Given the description of an element on the screen output the (x, y) to click on. 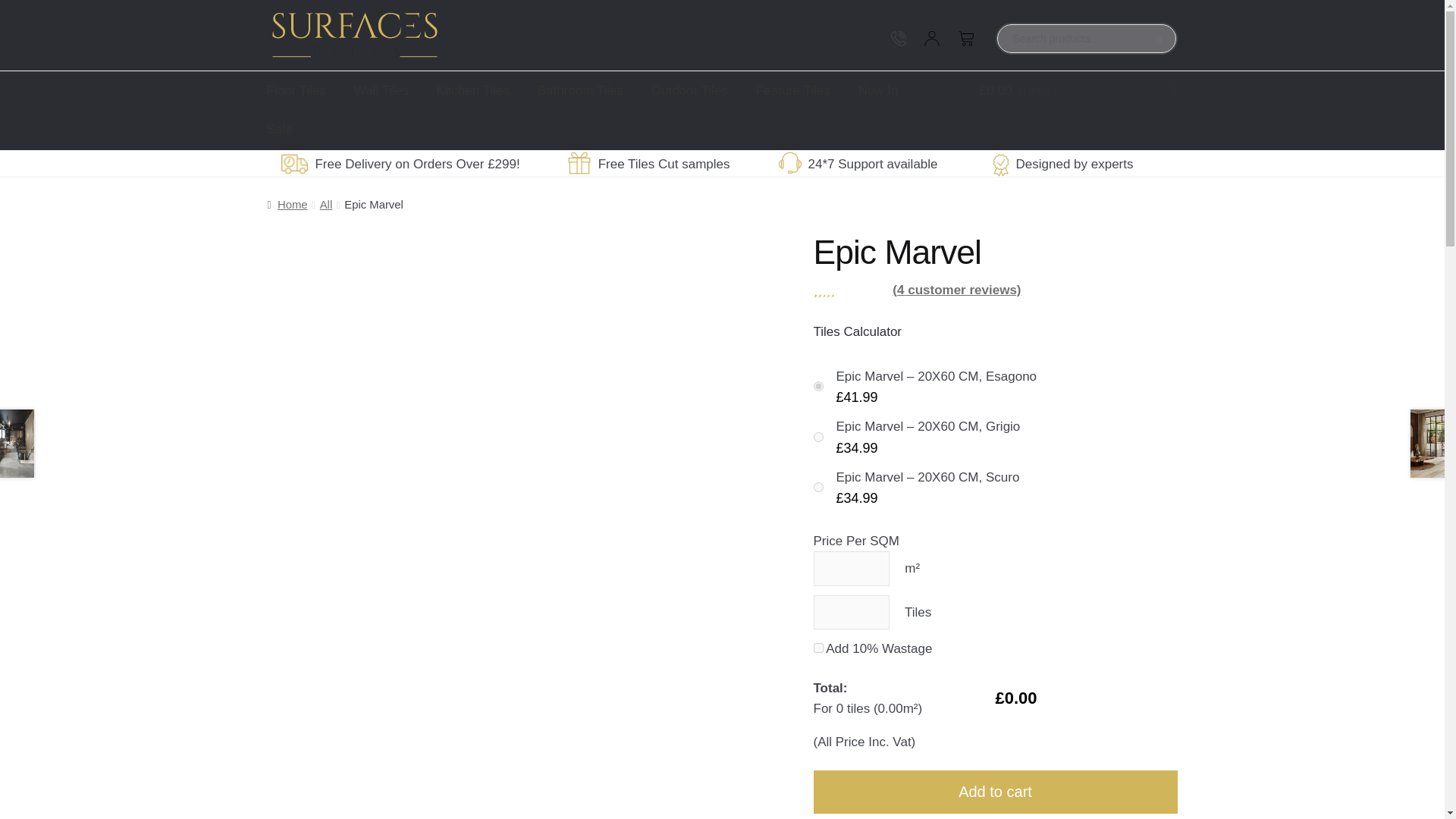
View your shopping cart (1078, 90)
Feature Tiles (793, 90)
New In (878, 90)
Home (286, 204)
Cart (964, 38)
Bathroom Tiles (579, 90)
Wall Tiles (381, 90)
Tiles Calculator (856, 331)
Trade account (864, 38)
My account (931, 38)
Outdoor Tiles (689, 90)
Floor Tiles (295, 90)
Qty (850, 568)
10 (817, 647)
